Given the description of an element on the screen output the (x, y) to click on. 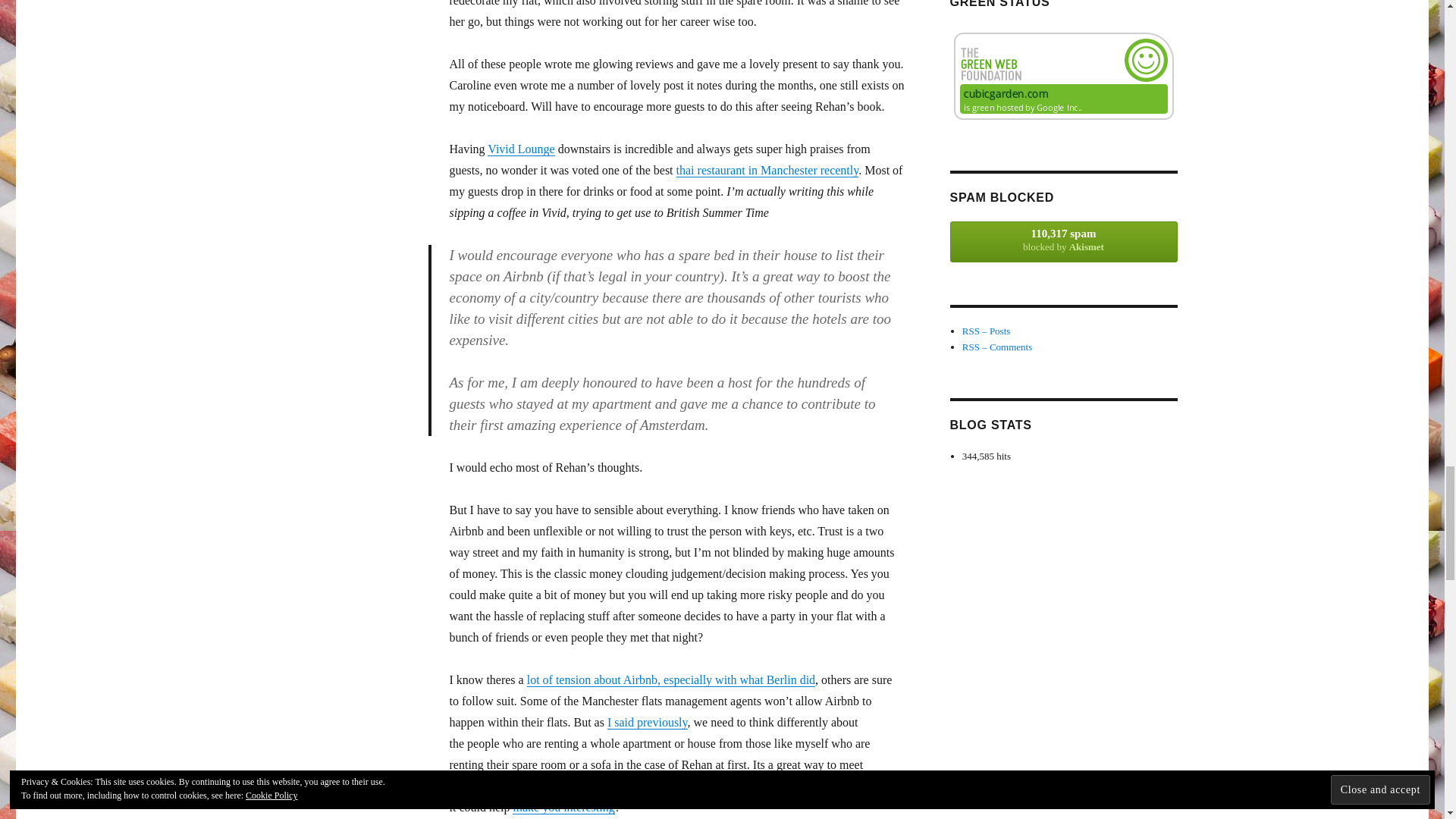
I said previously (647, 721)
lot of tension about Airbnb, especially with what Berlin did (671, 679)
Vivid Lounge (520, 148)
thai restaurant in Manchester recently (768, 169)
make you interesting (563, 807)
a interesting talking point in conversations (745, 785)
